Given the description of an element on the screen output the (x, y) to click on. 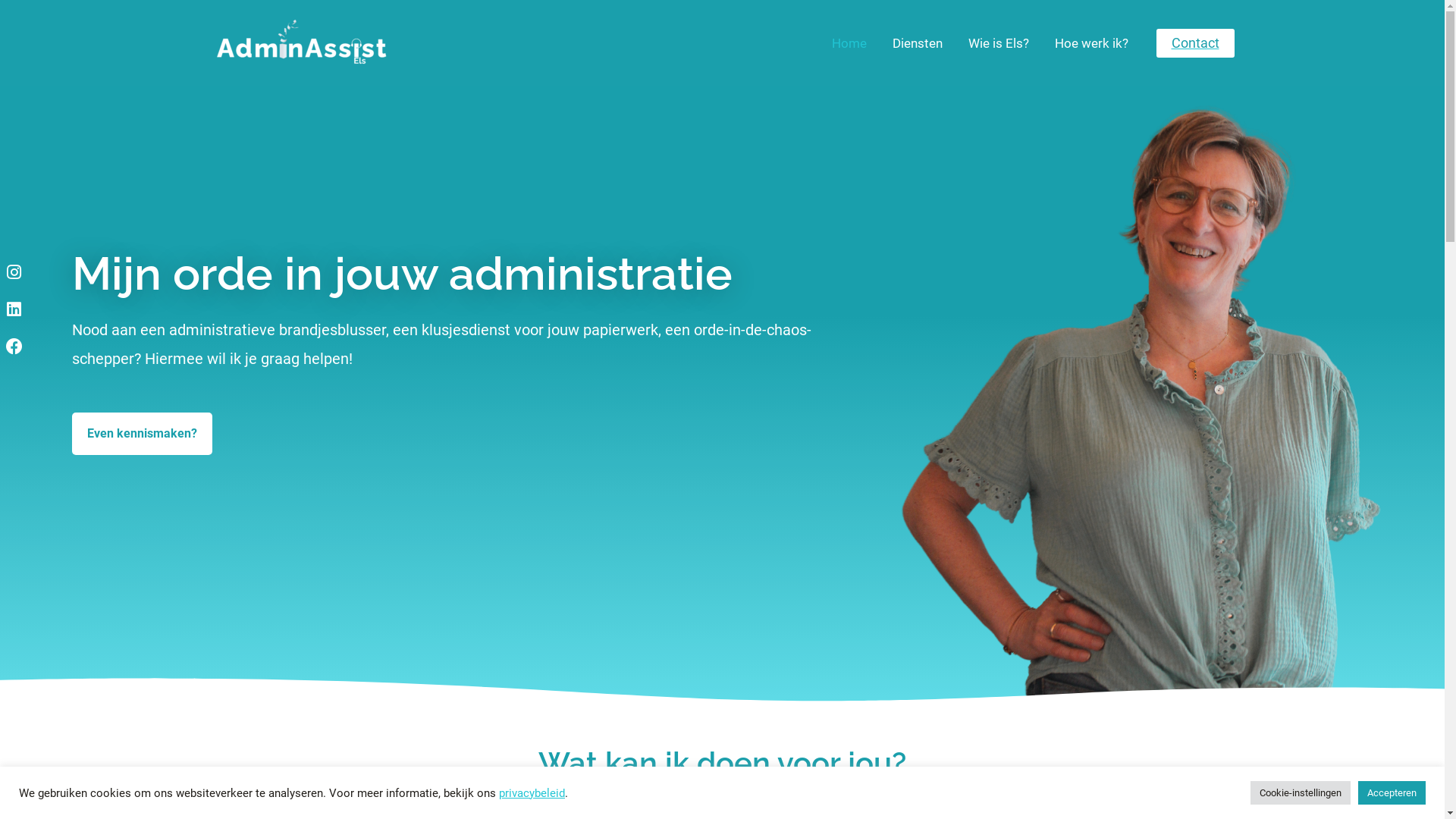
Home Element type: text (849, 42)
Contact Element type: text (1194, 42)
privacybeleid Element type: text (531, 792)
Diensten Element type: text (917, 42)
Hoe werk ik? Element type: text (1091, 42)
Accepteren Element type: text (1391, 792)
Even kennismaken? Element type: text (142, 433)
Wie is Els? Element type: text (998, 42)
Cookie-instellingen Element type: text (1300, 792)
